Given the description of an element on the screen output the (x, y) to click on. 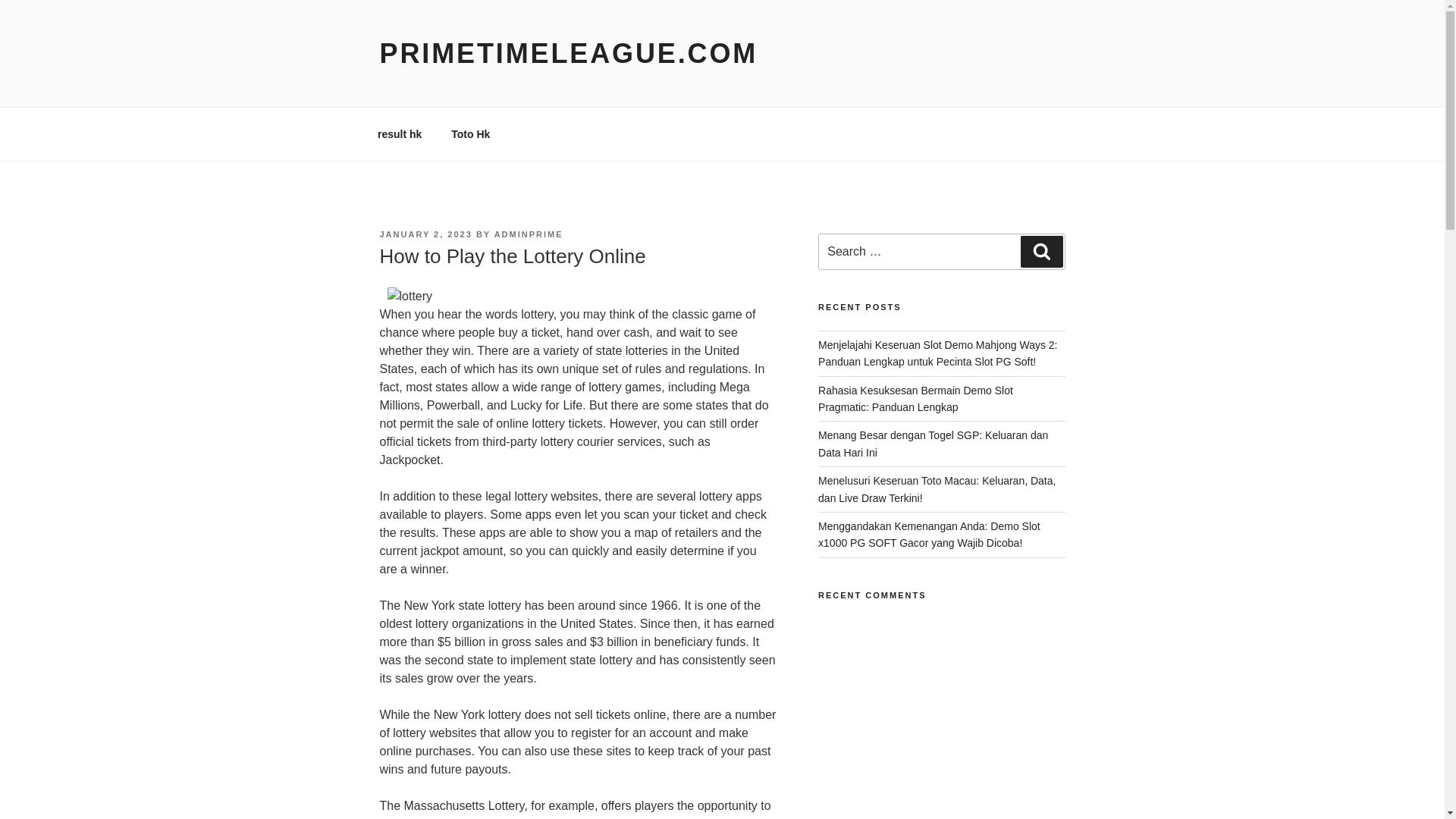
result hk (398, 133)
Toto Hk (470, 133)
ADMINPRIME (529, 234)
PRIMETIMELEAGUE.COM (567, 52)
JANUARY 2, 2023 (424, 234)
Search (1041, 251)
Menang Besar dengan Togel SGP: Keluaran dan Data Hari Ini (933, 443)
